Given the description of an element on the screen output the (x, y) to click on. 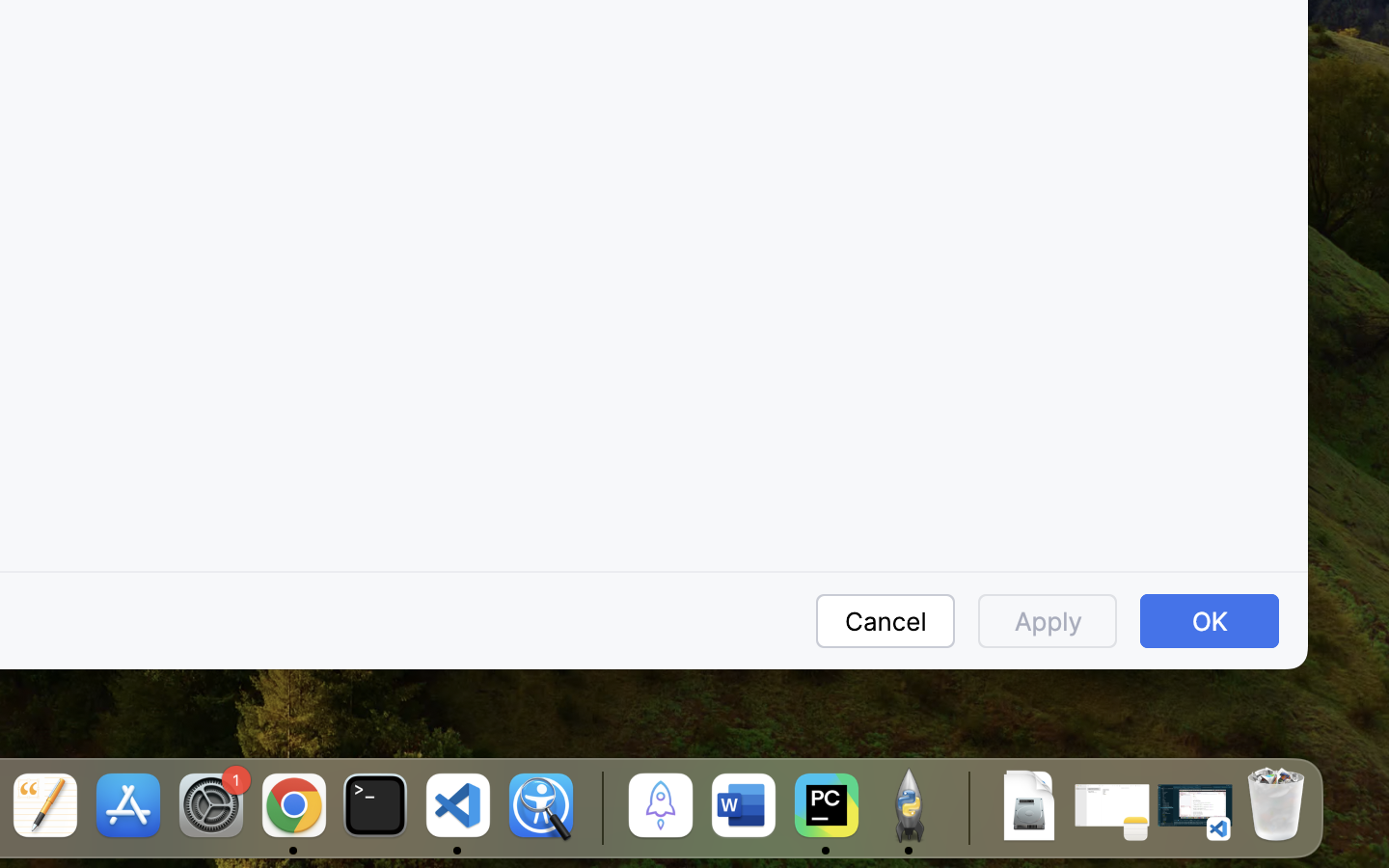
0.4285714328289032 Element type: AXDockItem (598, 807)
